Given the description of an element on the screen output the (x, y) to click on. 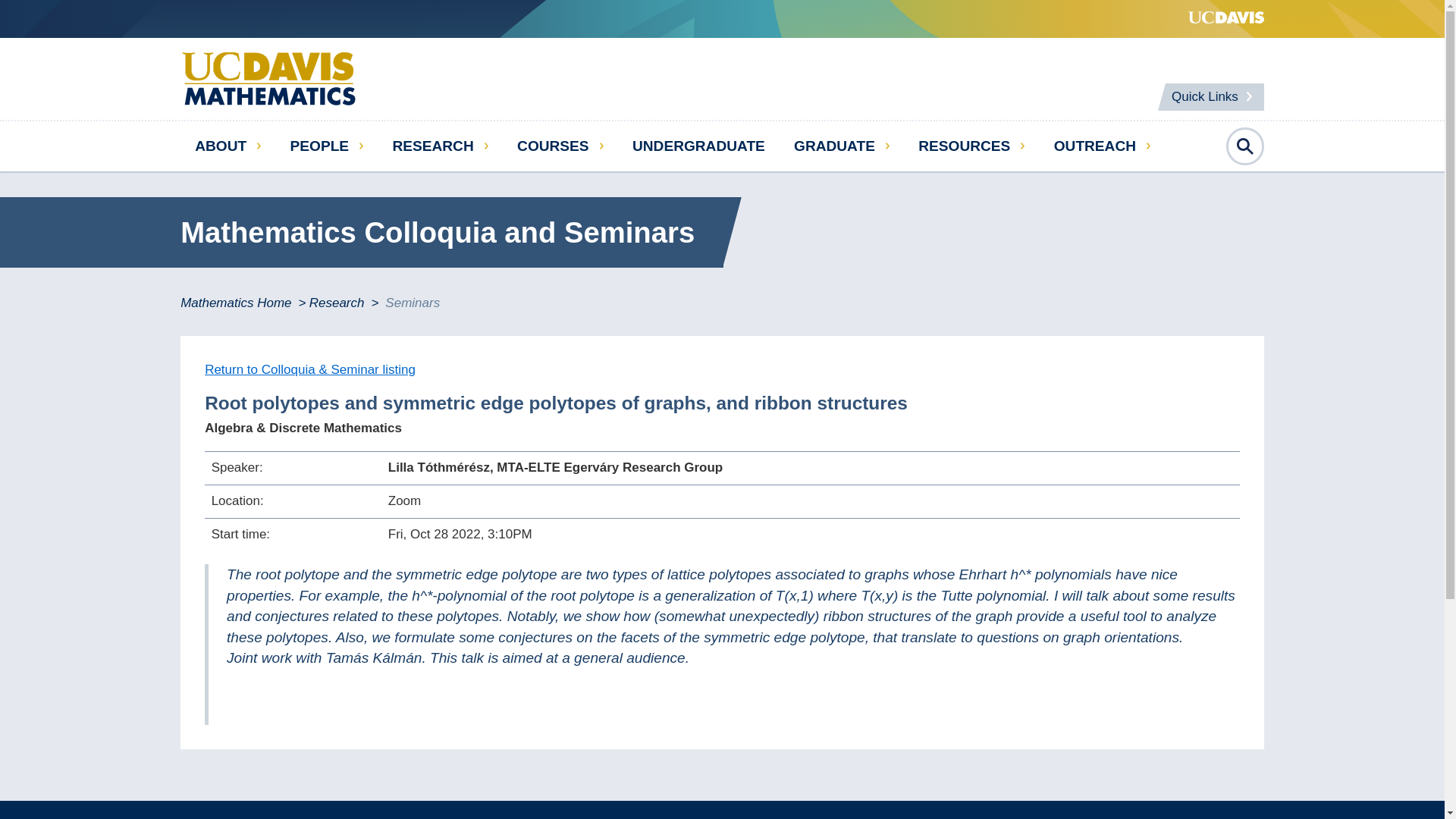
COURSES (559, 146)
ABOUT (227, 146)
PEOPLE (326, 146)
Open (1244, 146)
Search (1405, 409)
RESEARCH (439, 146)
